Given the description of an element on the screen output the (x, y) to click on. 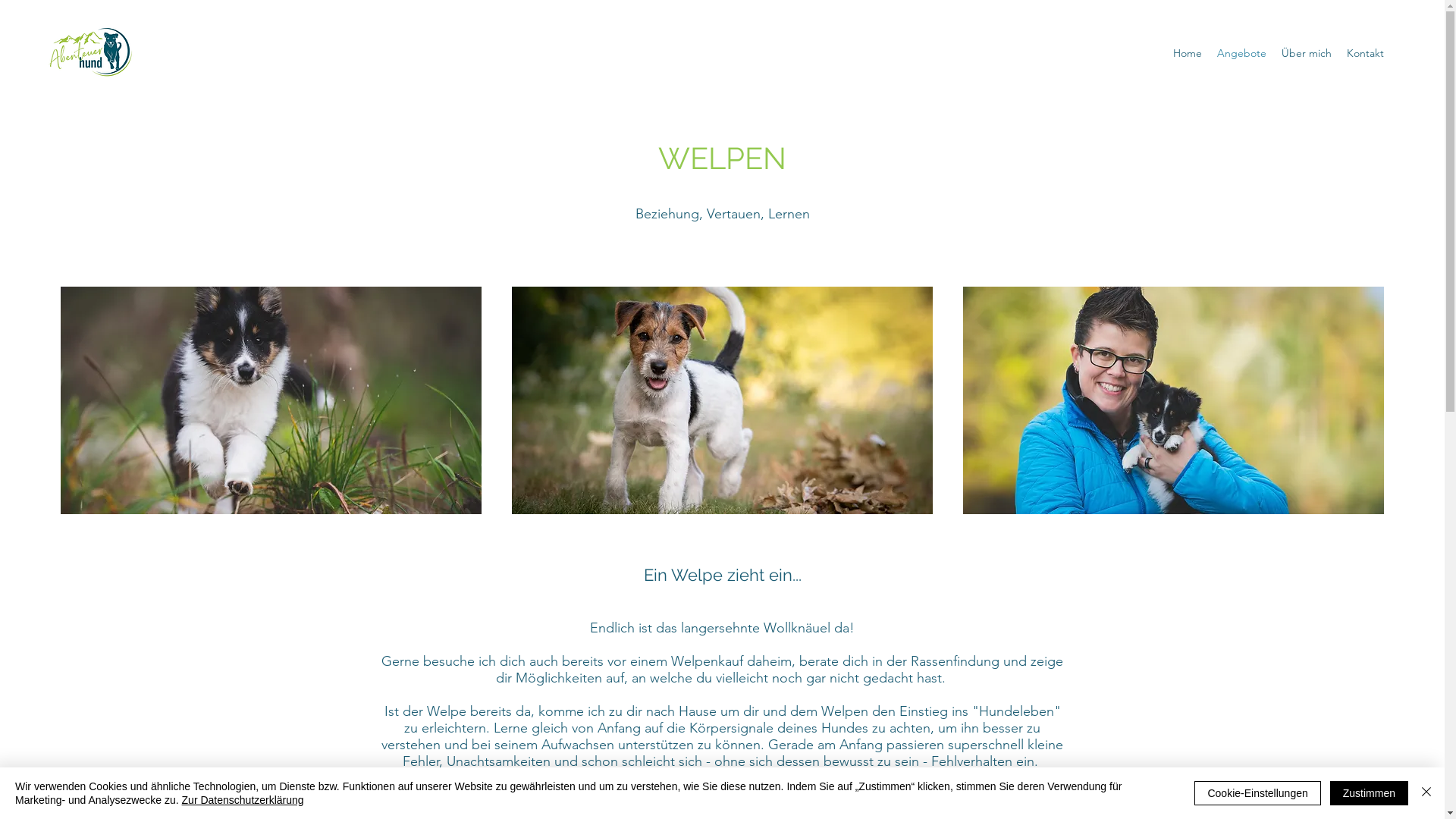
Kontakt Element type: text (1365, 52)
Home Element type: text (1187, 52)
Zustimmen Element type: text (1369, 793)
Angebote Element type: text (1241, 52)
Cookie-Einstellungen Element type: text (1257, 793)
